Given the description of an element on the screen output the (x, y) to click on. 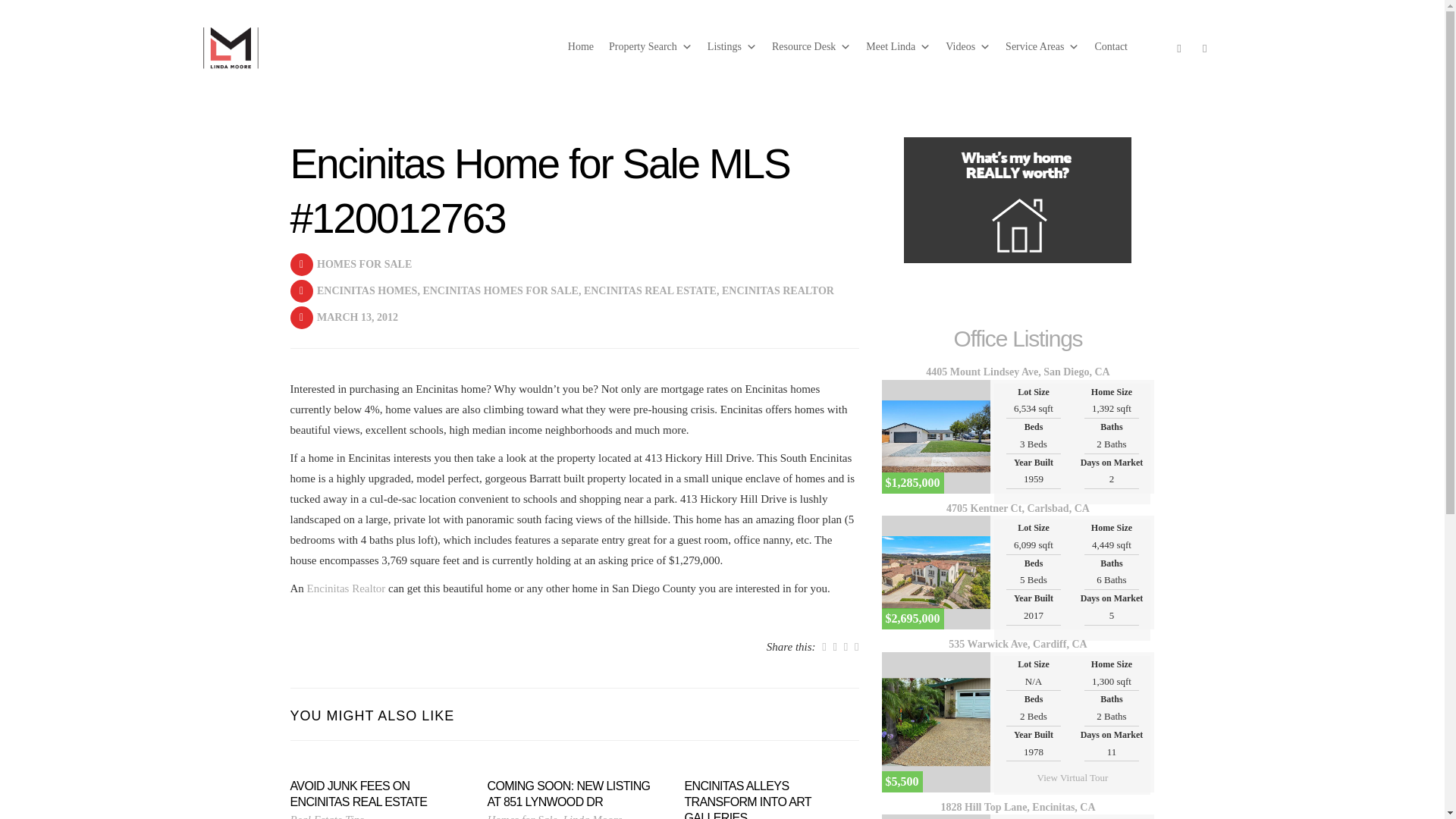
Coming Soon: New Listing at 851 Lynwood Dr (573, 794)
Meet Linda (898, 46)
Home (580, 46)
Listings (732, 46)
Avoid Junk Fees on Encinitas Real Estate (376, 794)
Encinitas Alleys Transform into Art Galleries (771, 798)
Videos (967, 46)
Property Search (650, 46)
Resource Desk (811, 46)
